Given the description of an element on the screen output the (x, y) to click on. 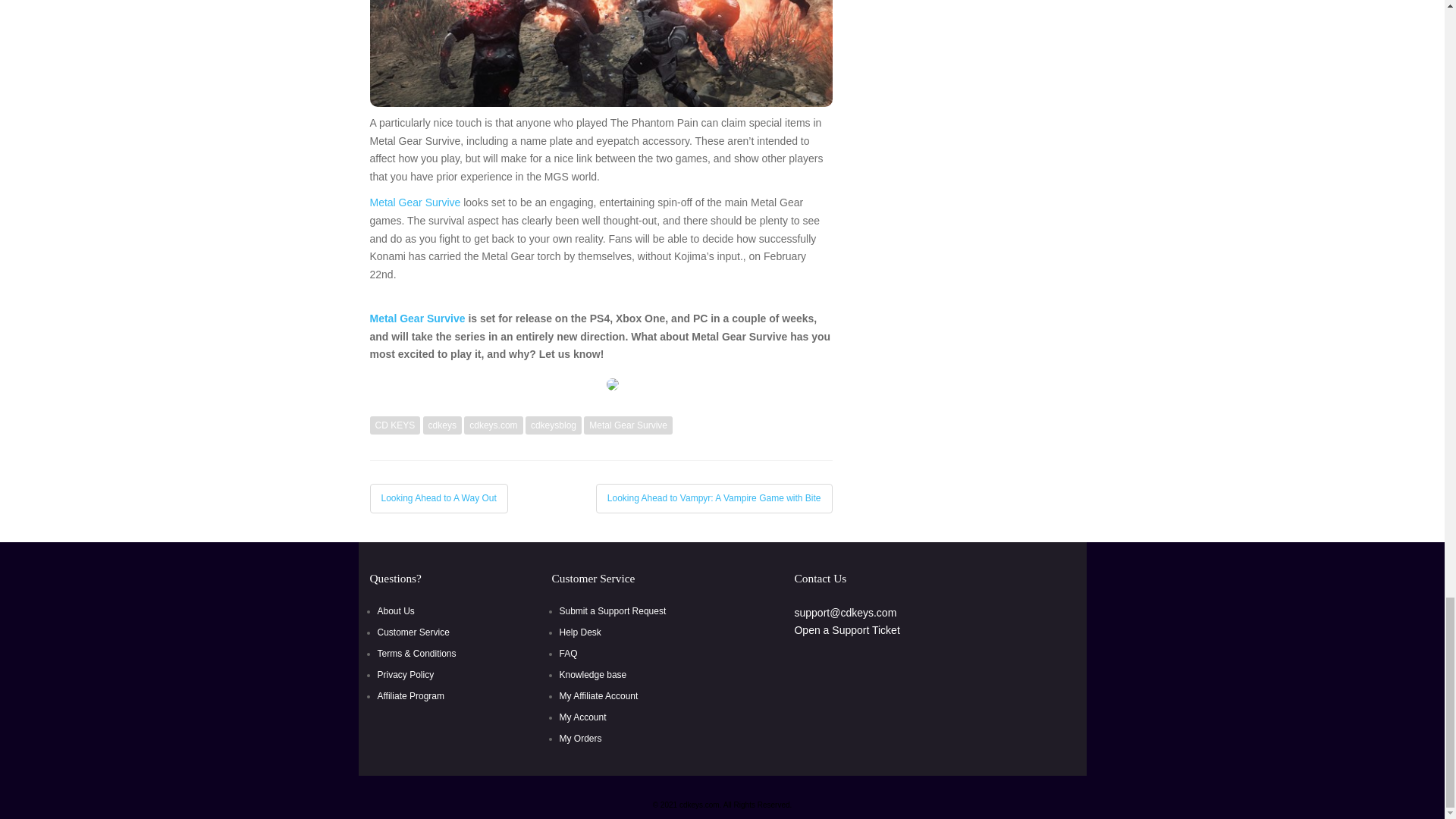
Metal Gear Survive (417, 318)
CD KEYS (394, 425)
Looking Ahead to A Way Out (438, 498)
cdkeys.com (493, 425)
Looking Ahead to Vampyr: A Vampire Game with Bite (713, 498)
cdkeysblog (552, 425)
cdkeys (442, 425)
Metal Gear Survive (415, 202)
Metal Gear Survive (627, 425)
